Given the description of an element on the screen output the (x, y) to click on. 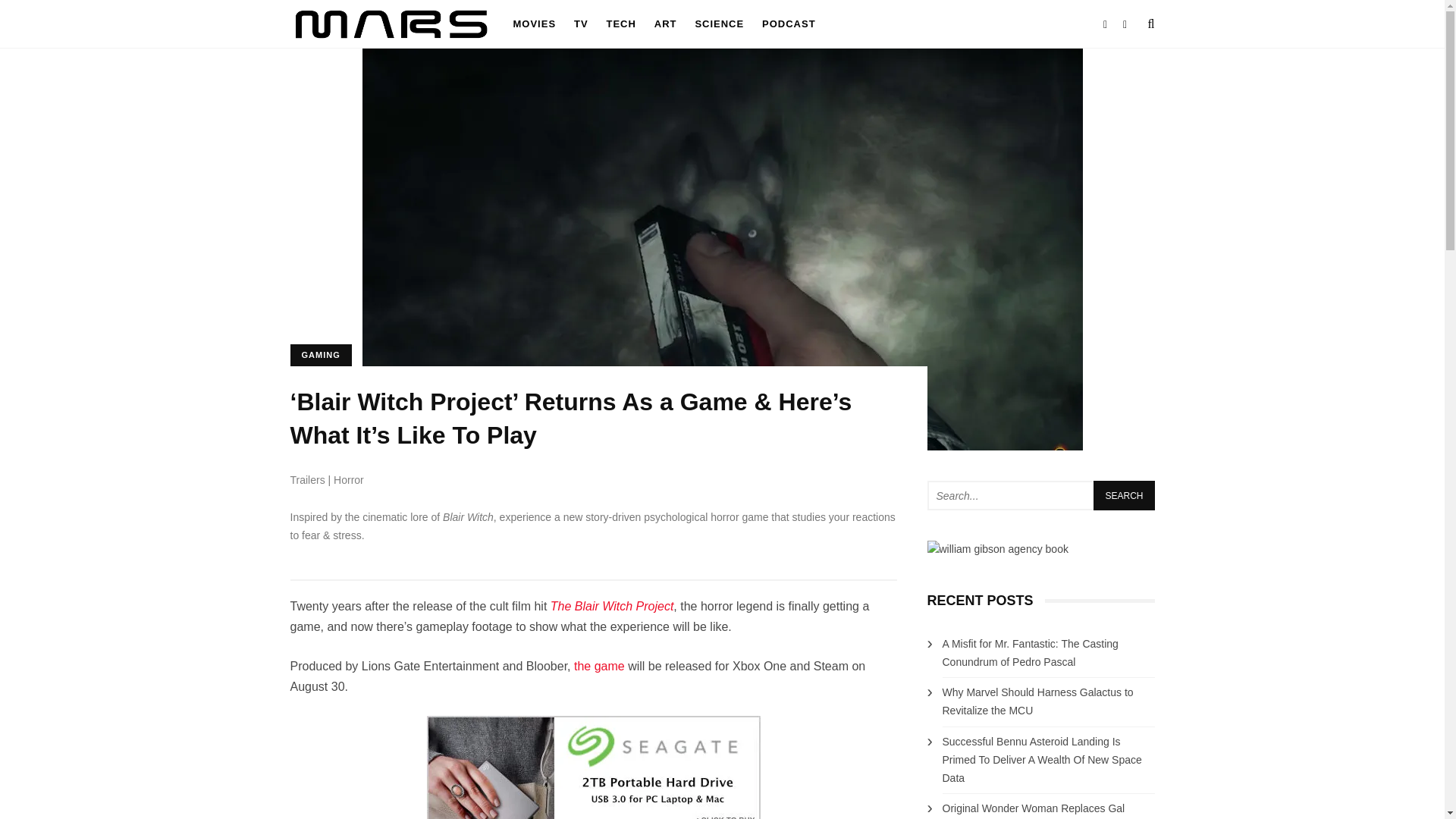
SCIENCE (719, 24)
GAMING (319, 354)
Trailers (306, 480)
MOVIES (534, 24)
The Blair Witch Project (612, 605)
PODCAST (789, 24)
Horror (348, 480)
TECH (620, 24)
the game (598, 666)
MARS Magazine (389, 44)
